Given the description of an element on the screen output the (x, y) to click on. 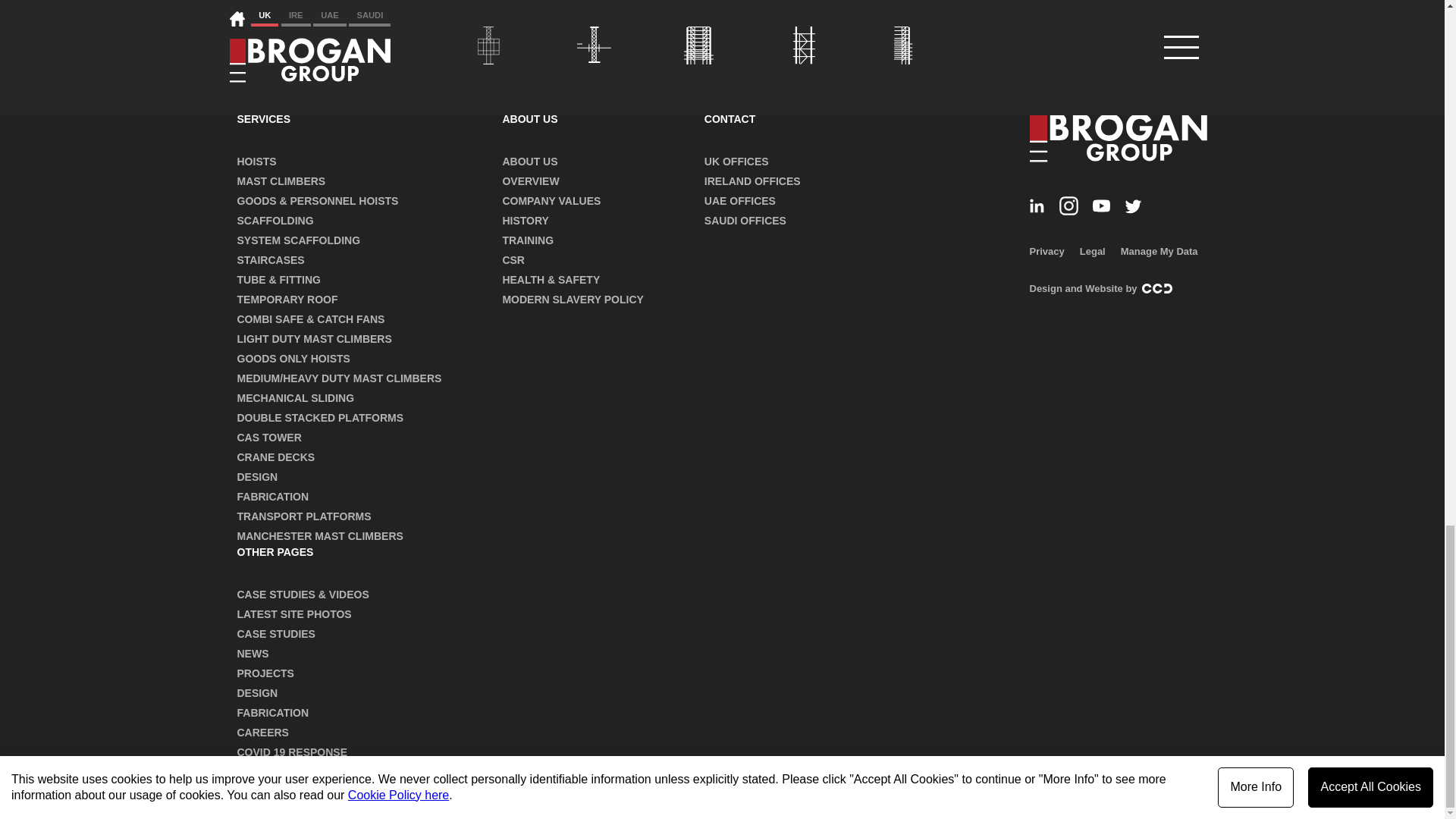
Brogan Group Logo (1118, 146)
Privacy (1046, 251)
Manage My Data (1159, 251)
Legal (1092, 251)
